Given the description of an element on the screen output the (x, y) to click on. 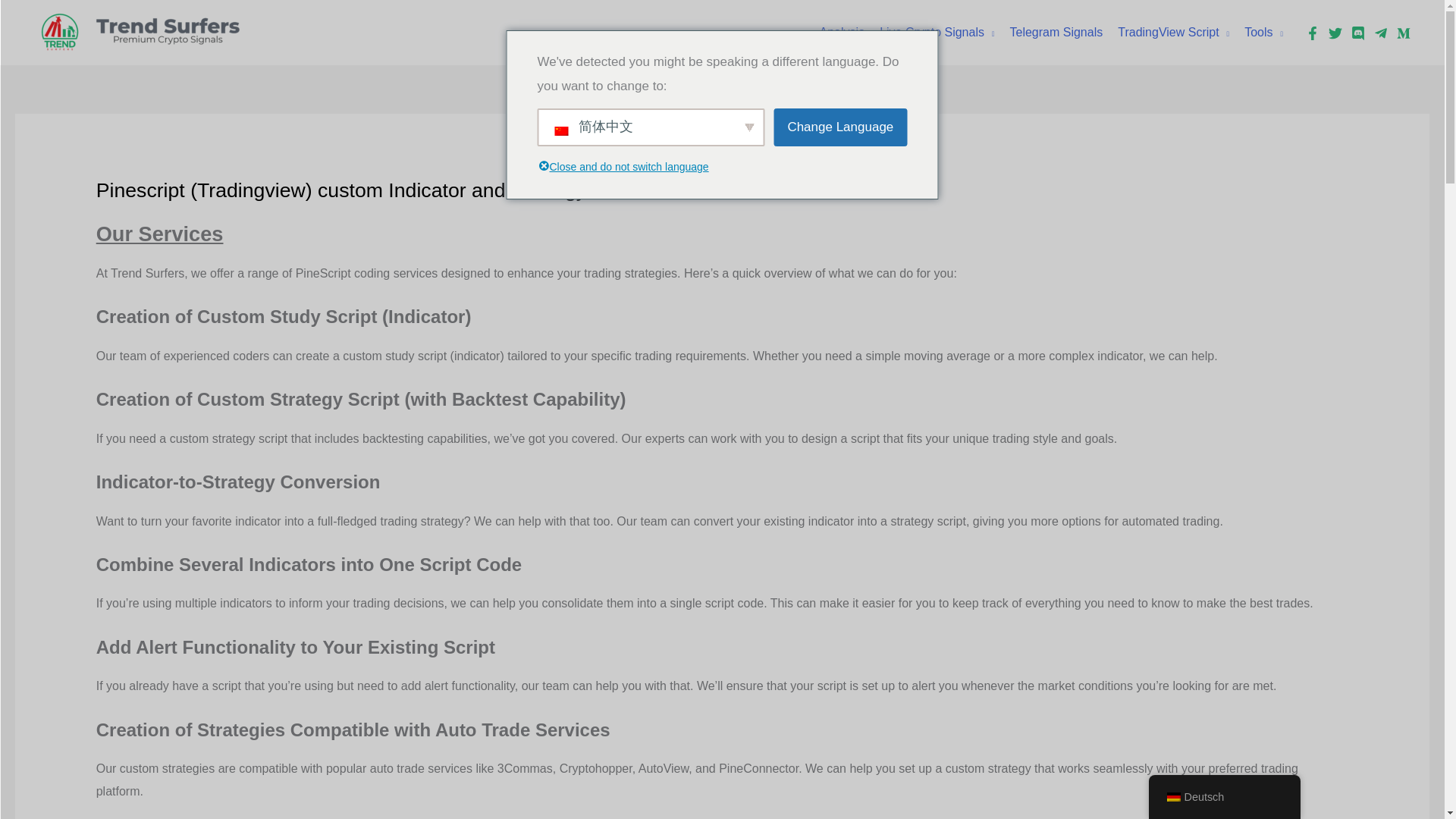
TradingView Script (1172, 31)
Tools (1263, 31)
Live Crypto Signals (936, 31)
Analysis (842, 31)
Telegram Signals (1055, 31)
cropped-Trend-Surfer-Logo-long-1.png - Trend Surfers (147, 32)
